Given the description of an element on the screen output the (x, y) to click on. 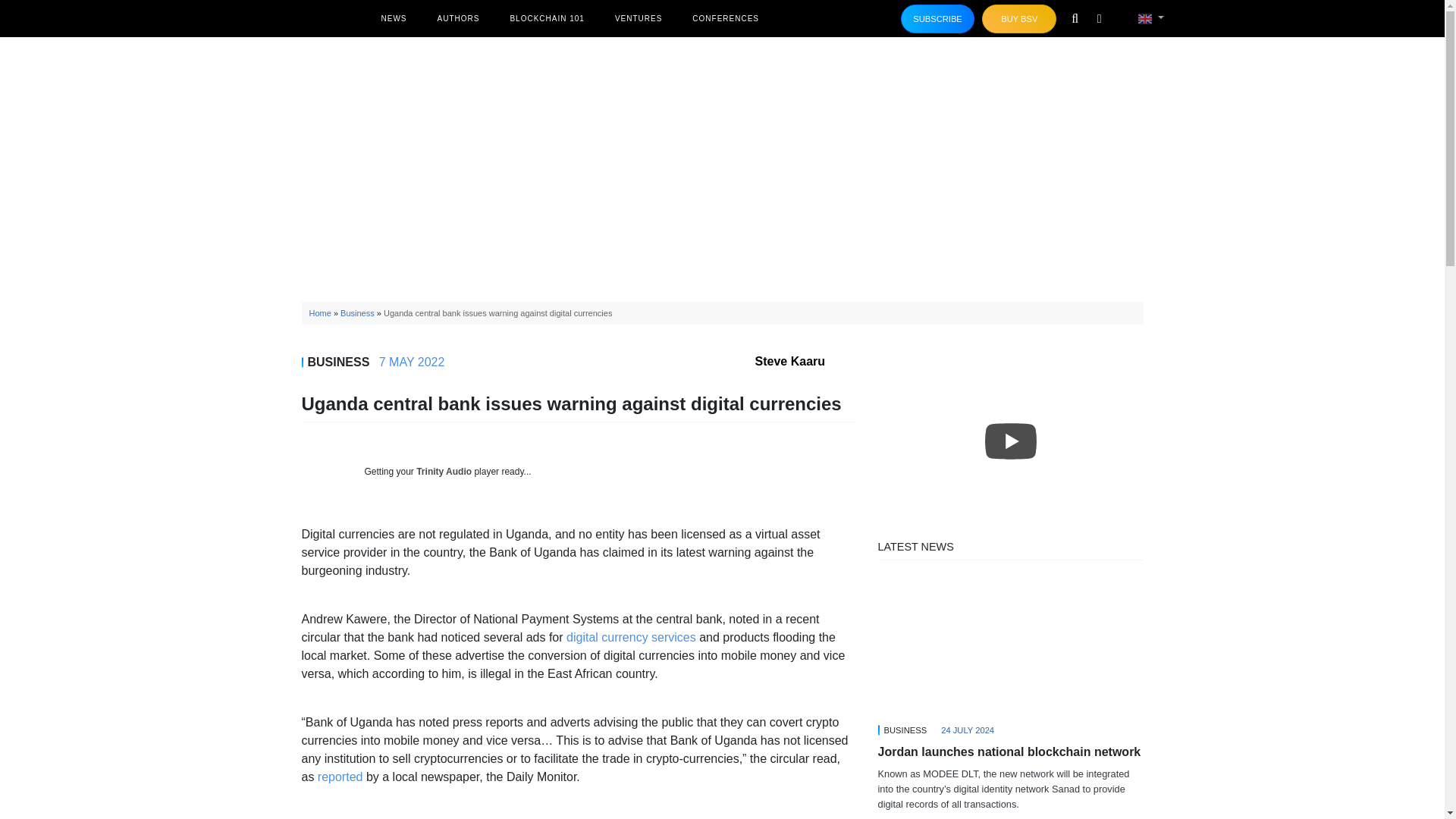
VENTURES (638, 18)
reported (339, 776)
Never miss an update again! Subscribe to Newsletter! (938, 18)
Business (357, 312)
SUBSCRIBE (938, 18)
BUY BSV (1019, 18)
Home (319, 312)
AUTHORS (457, 18)
Jordan launches national blockchain network (1009, 644)
CONFERENCES (725, 18)
Trinity Audio (443, 471)
BLOCKCHAIN 101 (546, 18)
NEWS (392, 18)
Steve Kaaru (805, 360)
digital currency services (630, 636)
